Given the description of an element on the screen output the (x, y) to click on. 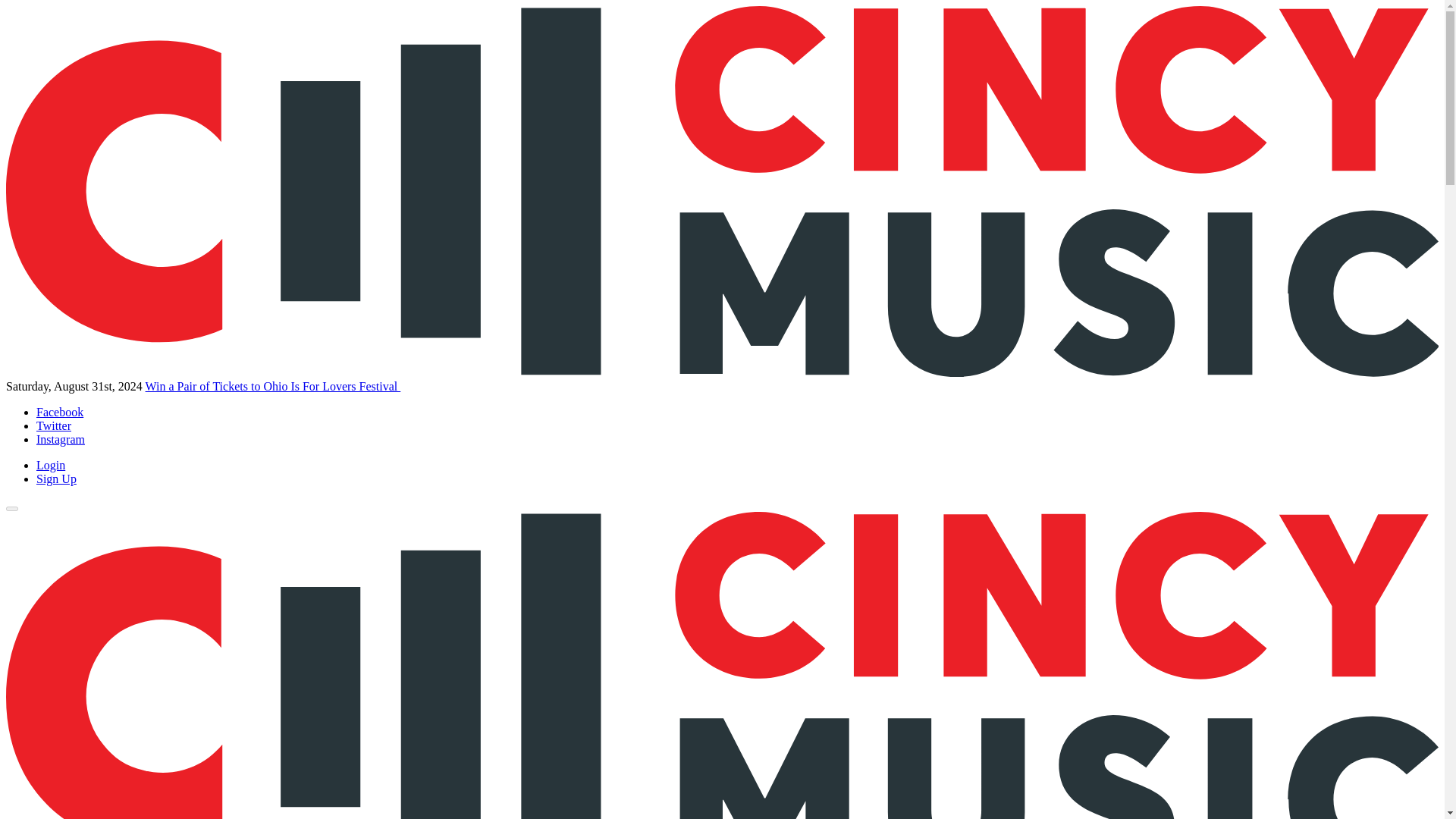
Sign Up (56, 478)
Win a Pair of Tickets to Ohio Is For Lovers Festival  (273, 386)
Instagram (60, 439)
Twitter (53, 425)
Facebook (59, 411)
Login (50, 464)
